Given the description of an element on the screen output the (x, y) to click on. 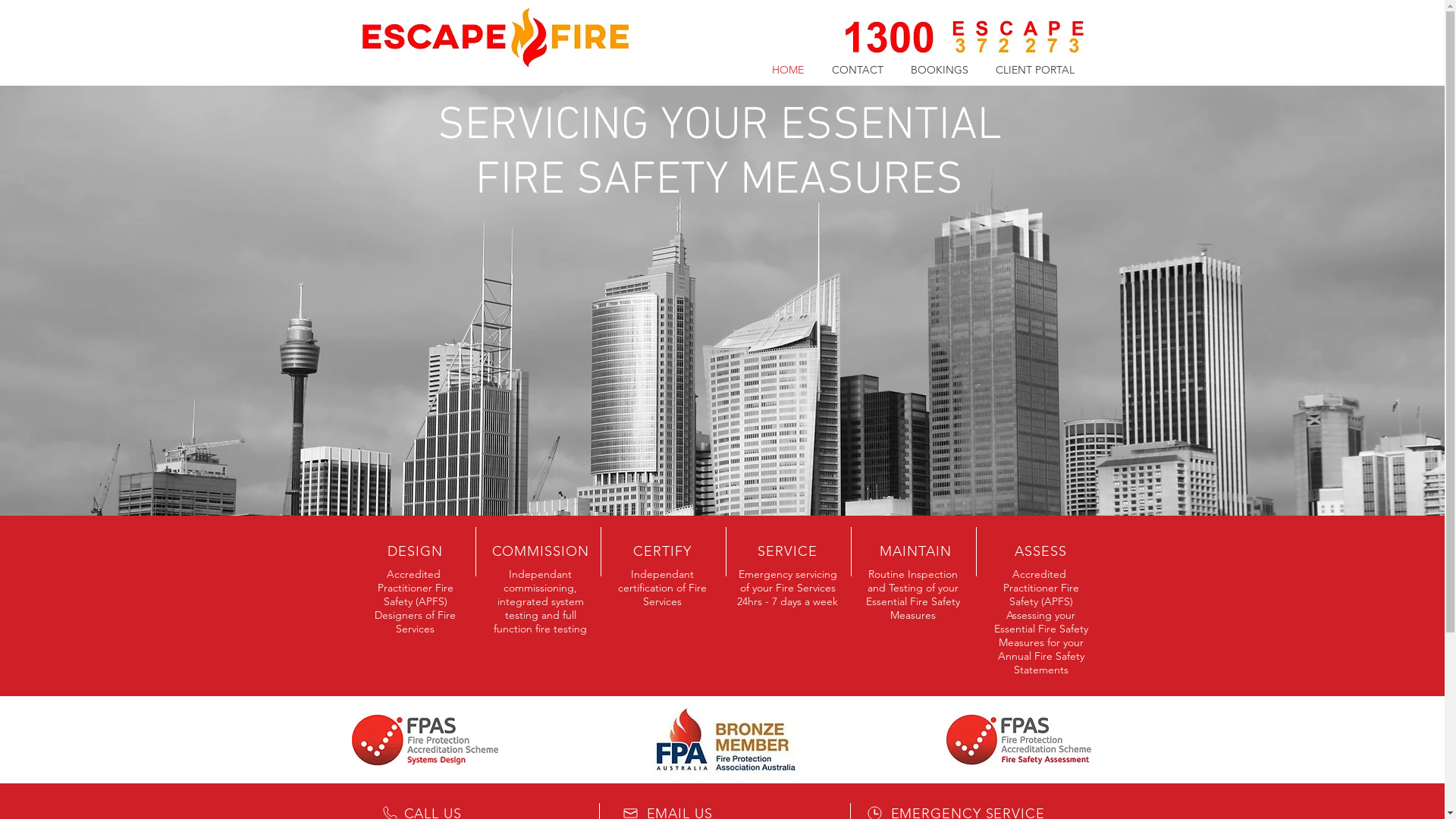
BOOKINGS Element type: text (938, 69)
CLIENT PORTAL Element type: text (1034, 69)
CONTACT Element type: text (856, 69)
 1300 ESCAPE.jpg Element type: hover (963, 37)
HOME Element type: text (788, 69)
